Given the description of an element on the screen output the (x, y) to click on. 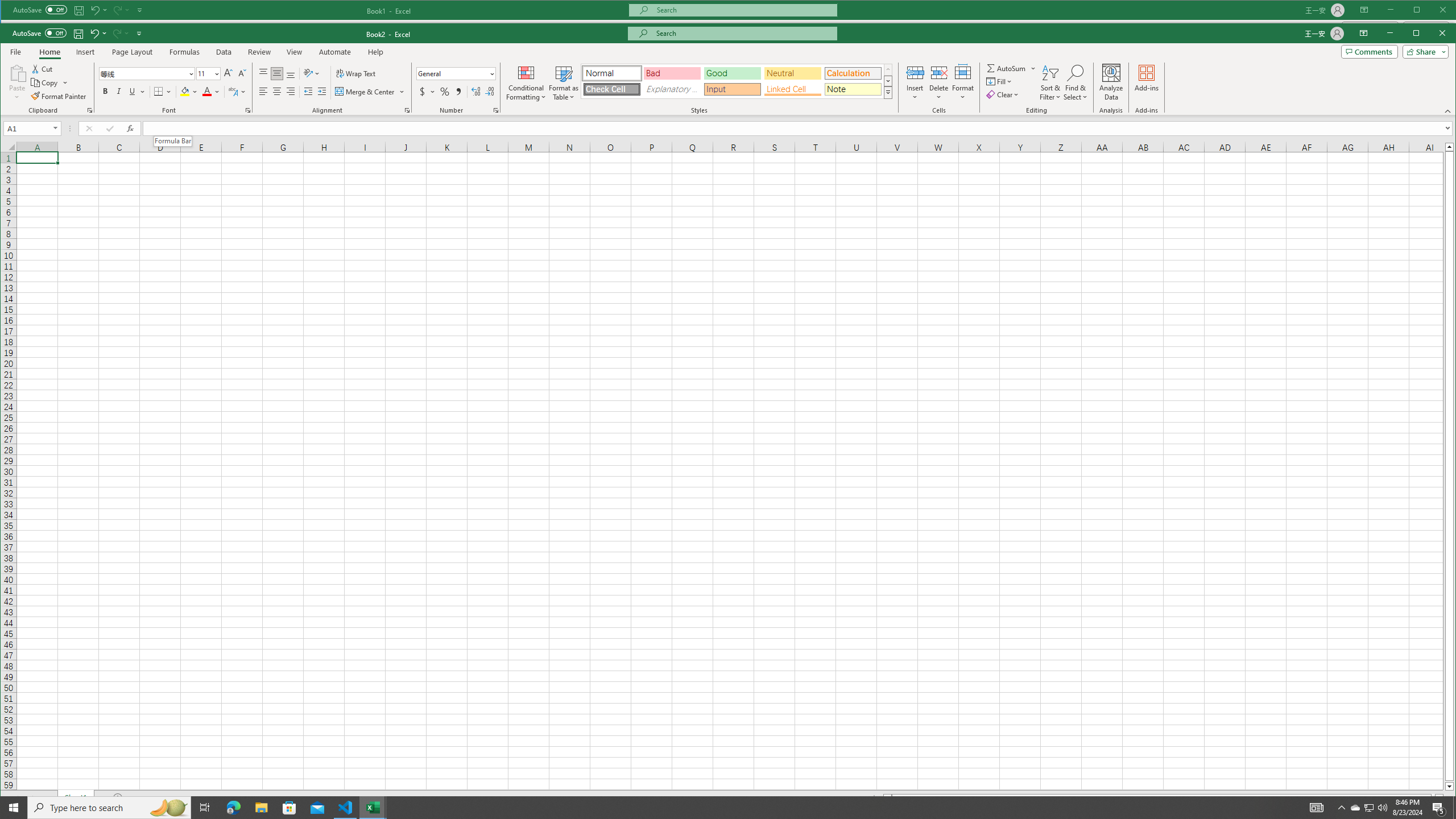
Class: NetUIImage (888, 92)
Find & Select (1075, 82)
Underline (136, 91)
Increase Font Size (227, 73)
Class: NetUIScrollBar (1163, 798)
Insert (914, 82)
Open (55, 128)
Wrap Text (356, 73)
Paste (17, 72)
Share (1422, 51)
Customize Quick Access Toolbar (139, 32)
Normal (612, 73)
